Given the description of an element on the screen output the (x, y) to click on. 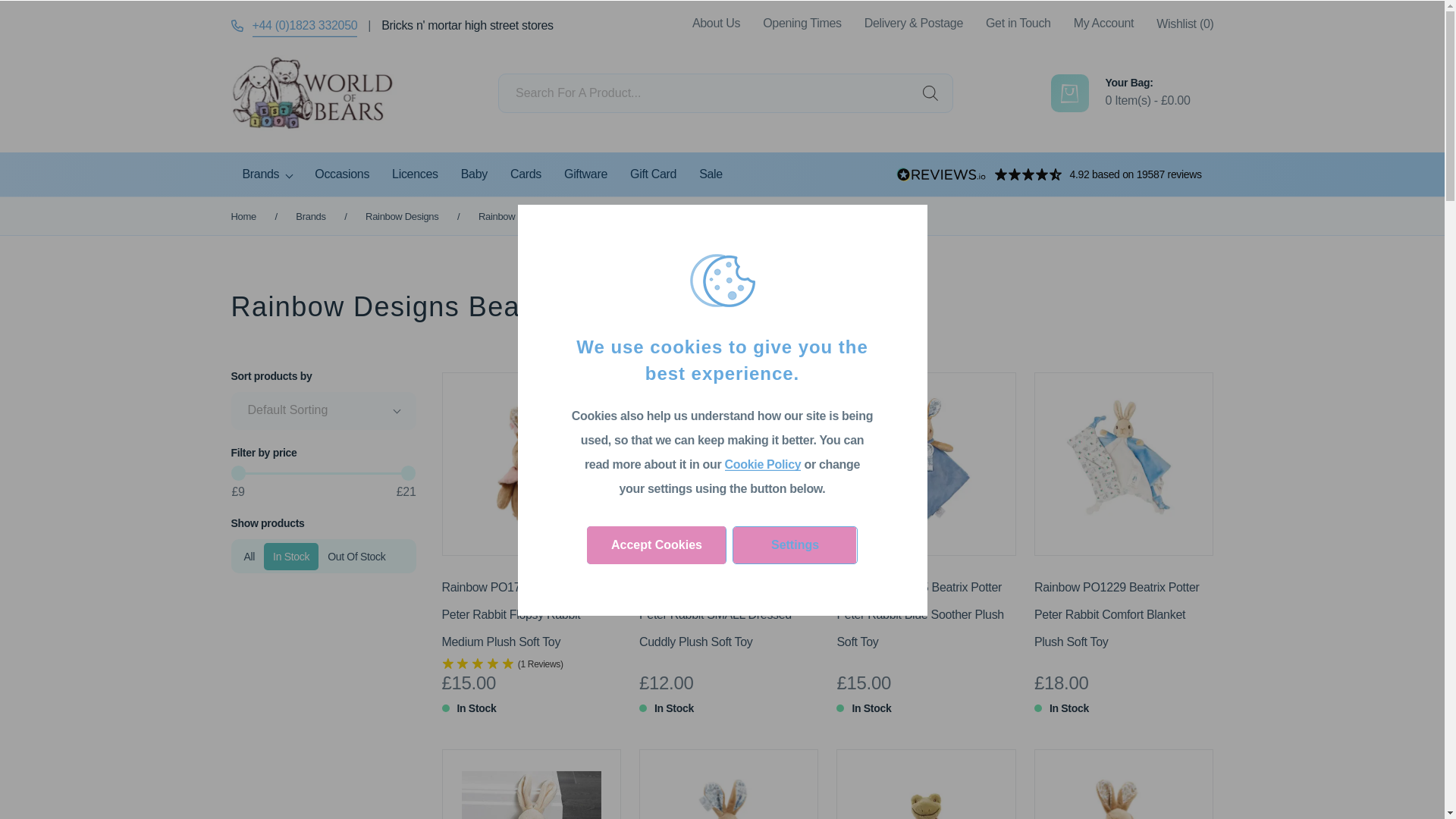
Licences (414, 174)
Giftware (585, 174)
Brands (266, 174)
My Account (1104, 22)
Sale (710, 174)
Baby (474, 174)
Opening Times (801, 22)
Get in Touch (1018, 22)
Cards (526, 174)
Occasions (341, 174)
About Us (716, 22)
Gift Card (652, 174)
